Given the description of an element on the screen output the (x, y) to click on. 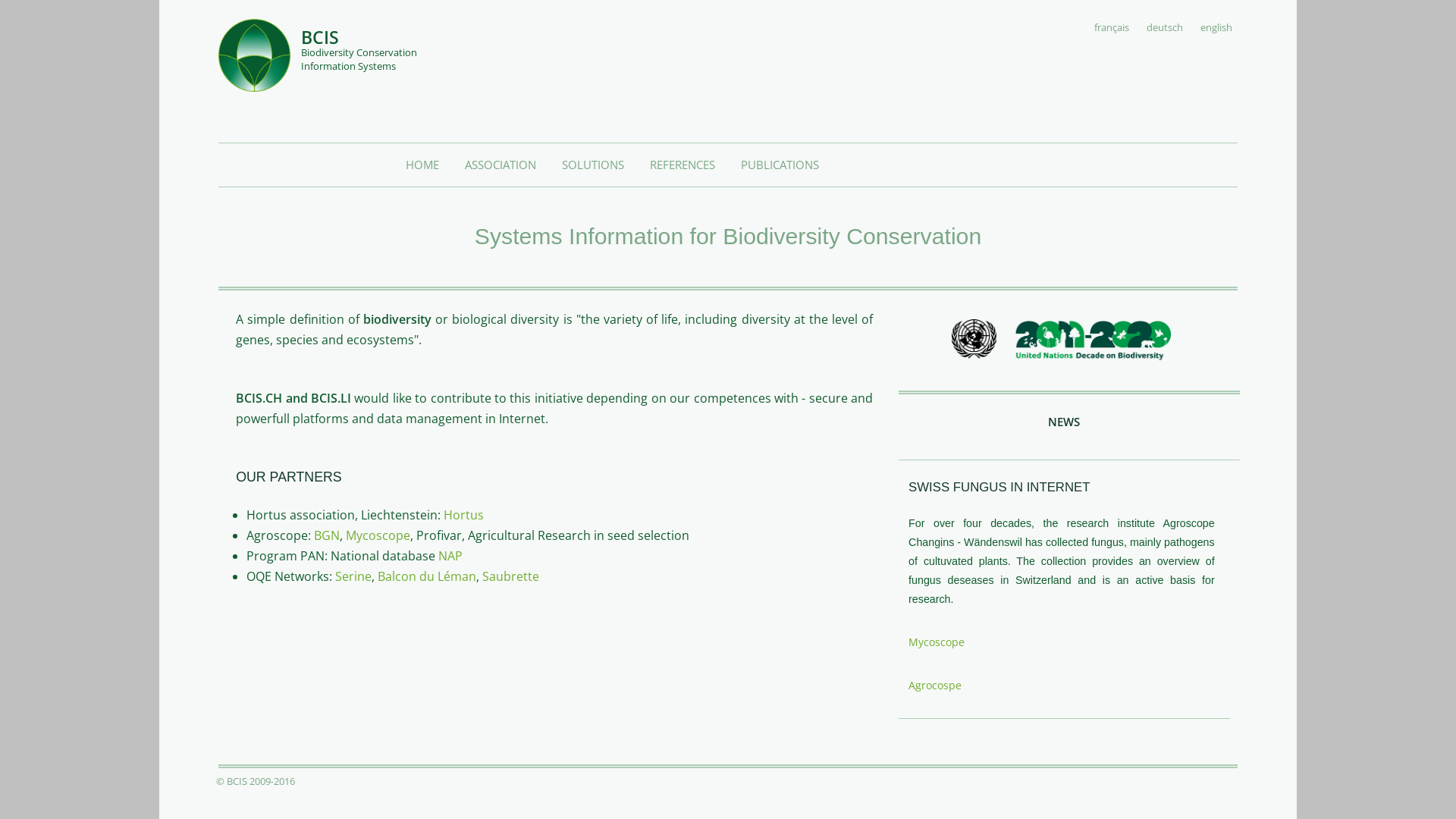
Hortus Element type: text (463, 514)
Mycoscope Element type: text (936, 641)
english Element type: text (1216, 27)
HOME Element type: text (422, 164)
ASSOCIATION Element type: text (500, 164)
PUBLICATIONS Element type: text (779, 164)
SOLUTIONS Element type: text (592, 164)
Saubrette Element type: text (510, 575)
NAP Element type: text (450, 555)
BGN Element type: text (326, 535)
Agrocospe Element type: text (934, 684)
Mycoscope Element type: text (377, 535)
deutsch Element type: text (1164, 27)
REFERENCES Element type: text (682, 164)
Serine Element type: text (353, 575)
